Given the description of an element on the screen output the (x, y) to click on. 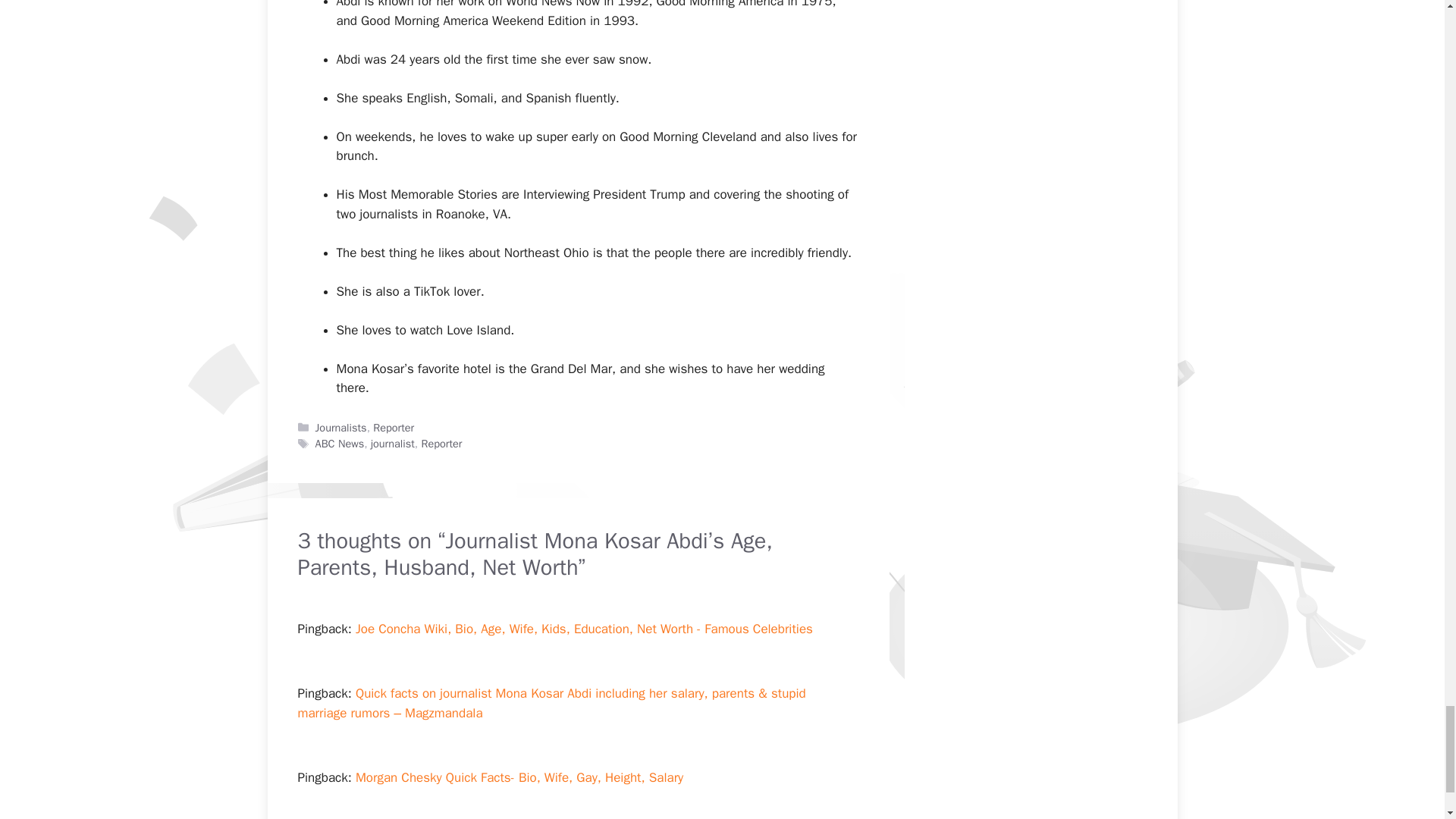
ABC News (340, 443)
Reporter (392, 427)
Journalists (340, 427)
journalist (392, 443)
Reporter (440, 443)
